Given the description of an element on the screen output the (x, y) to click on. 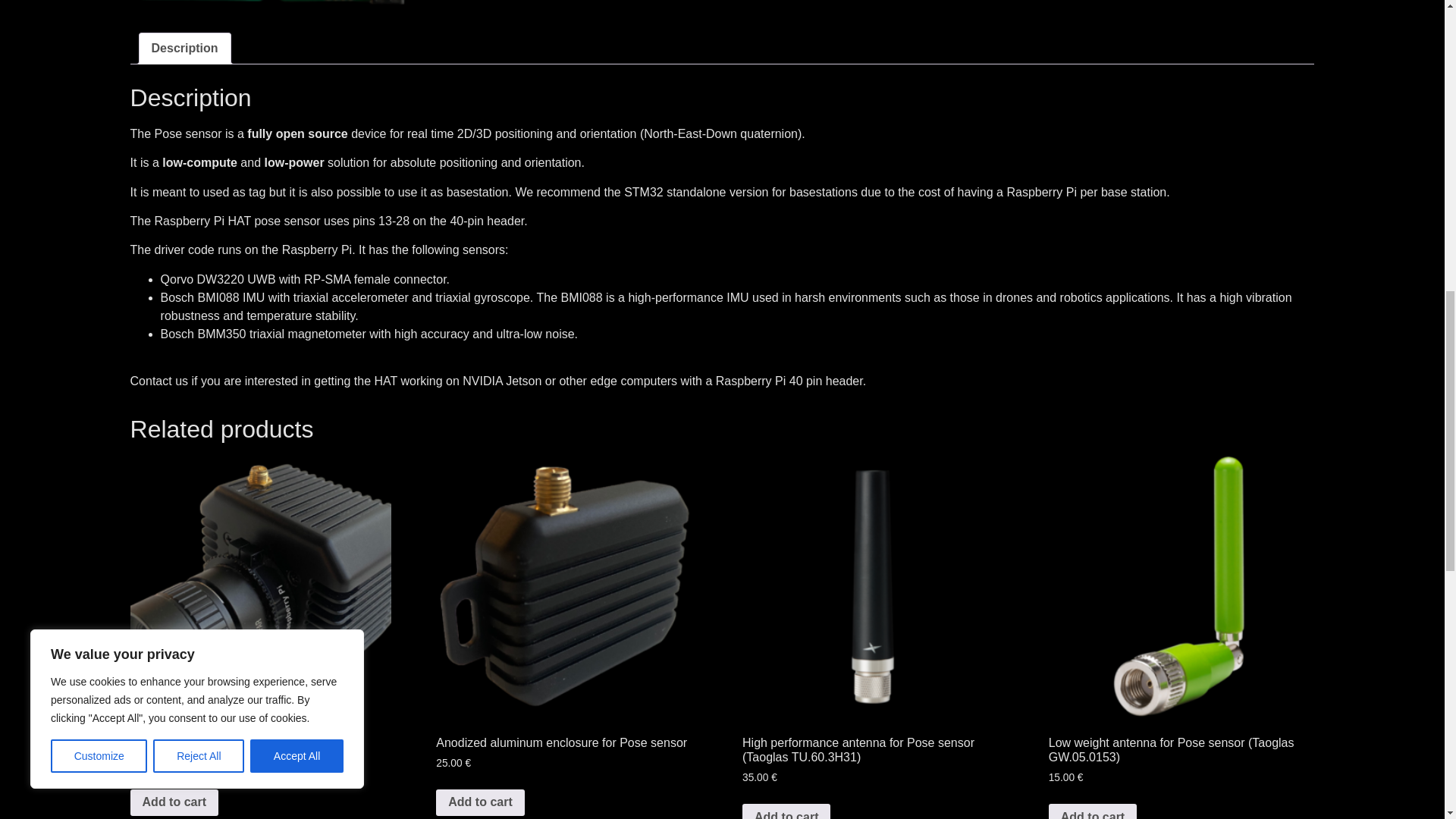
Description (184, 48)
Bosch BMM350 (203, 333)
Bosch BMI088 (200, 297)
Qorvo DW3220 (202, 278)
